Given the description of an element on the screen output the (x, y) to click on. 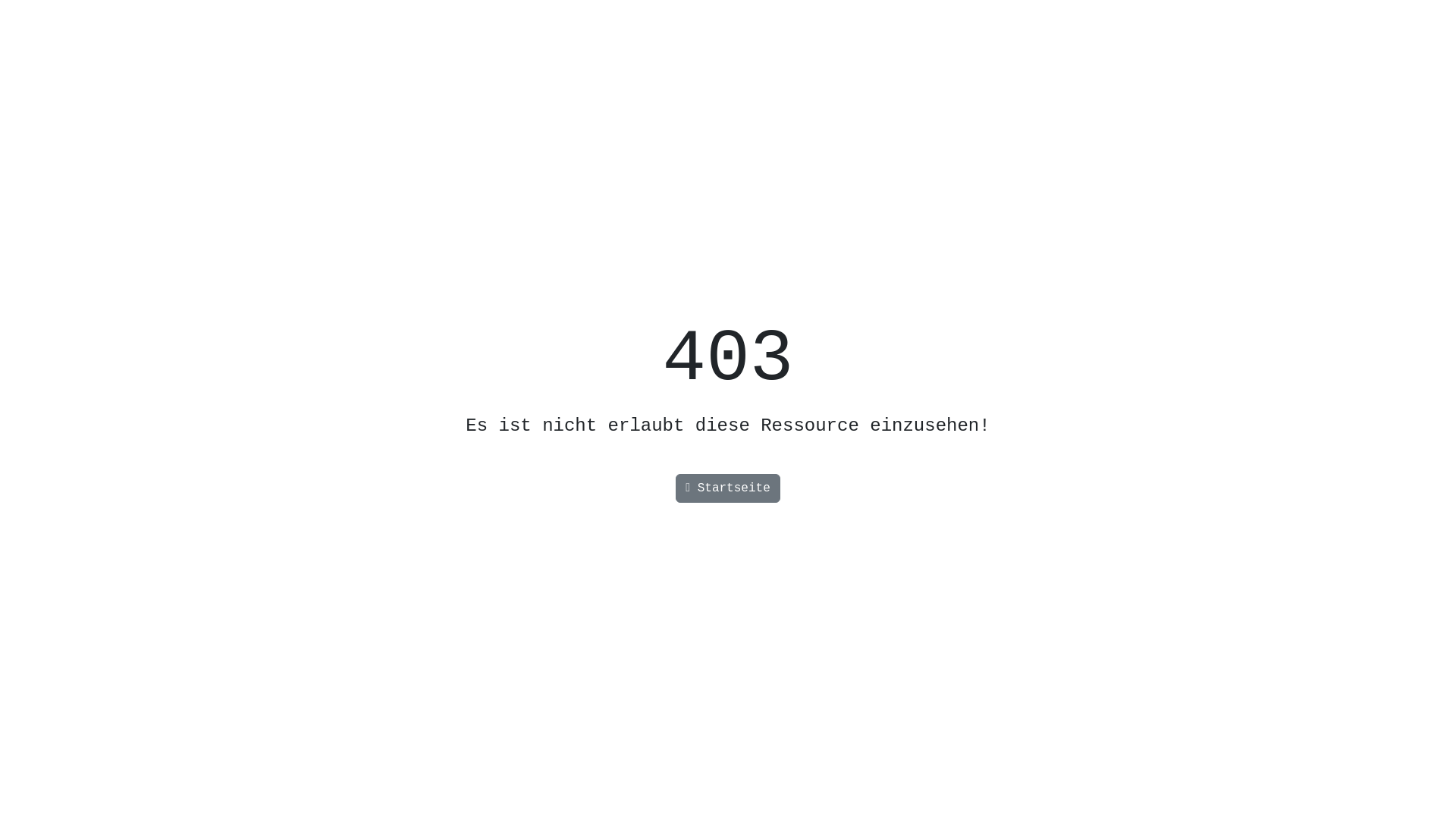
Startseite Element type: text (727, 487)
